Given the description of an element on the screen output the (x, y) to click on. 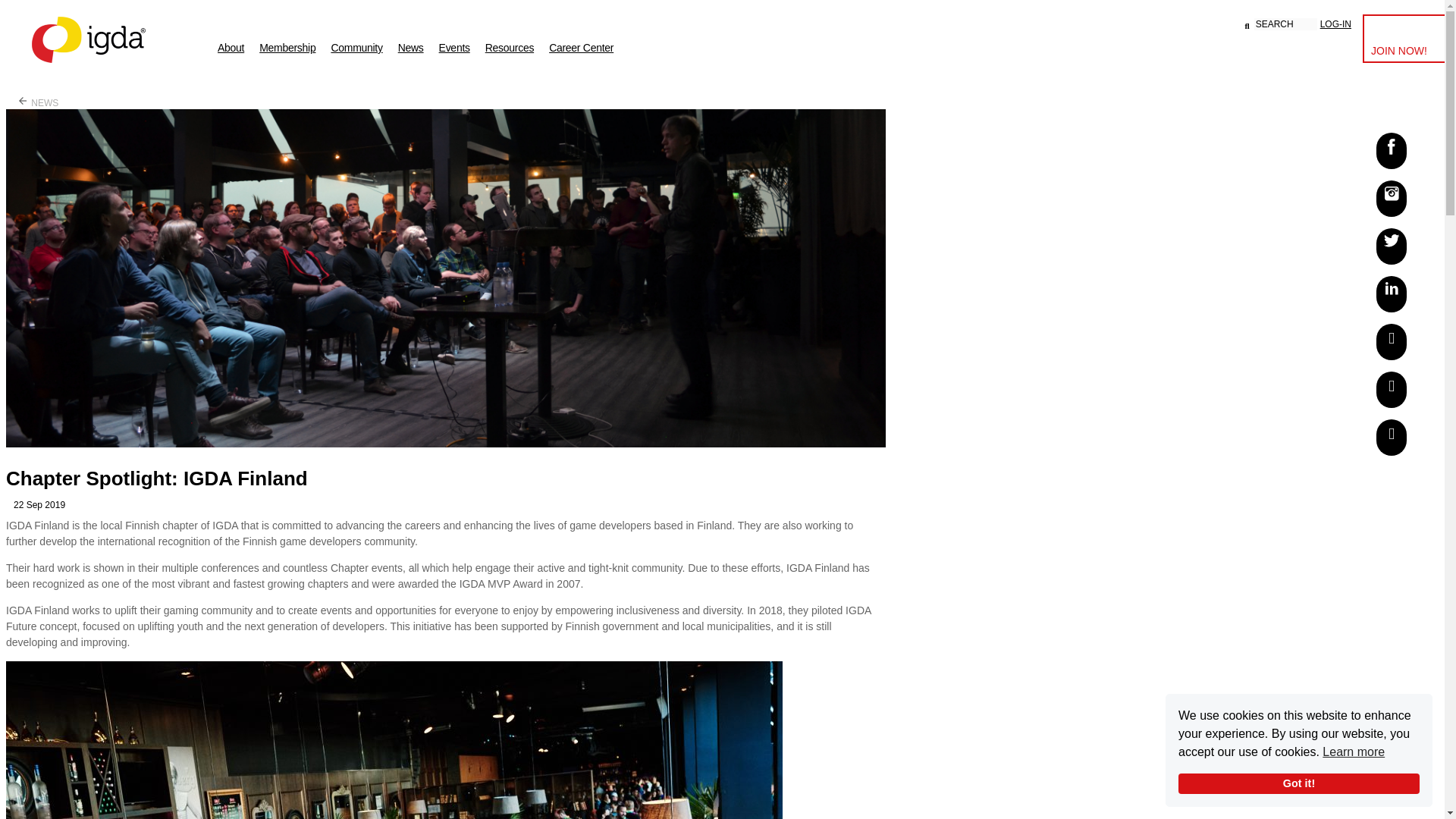
Learn more (1353, 751)
Got it! (1298, 783)
